Given the description of an element on the screen output the (x, y) to click on. 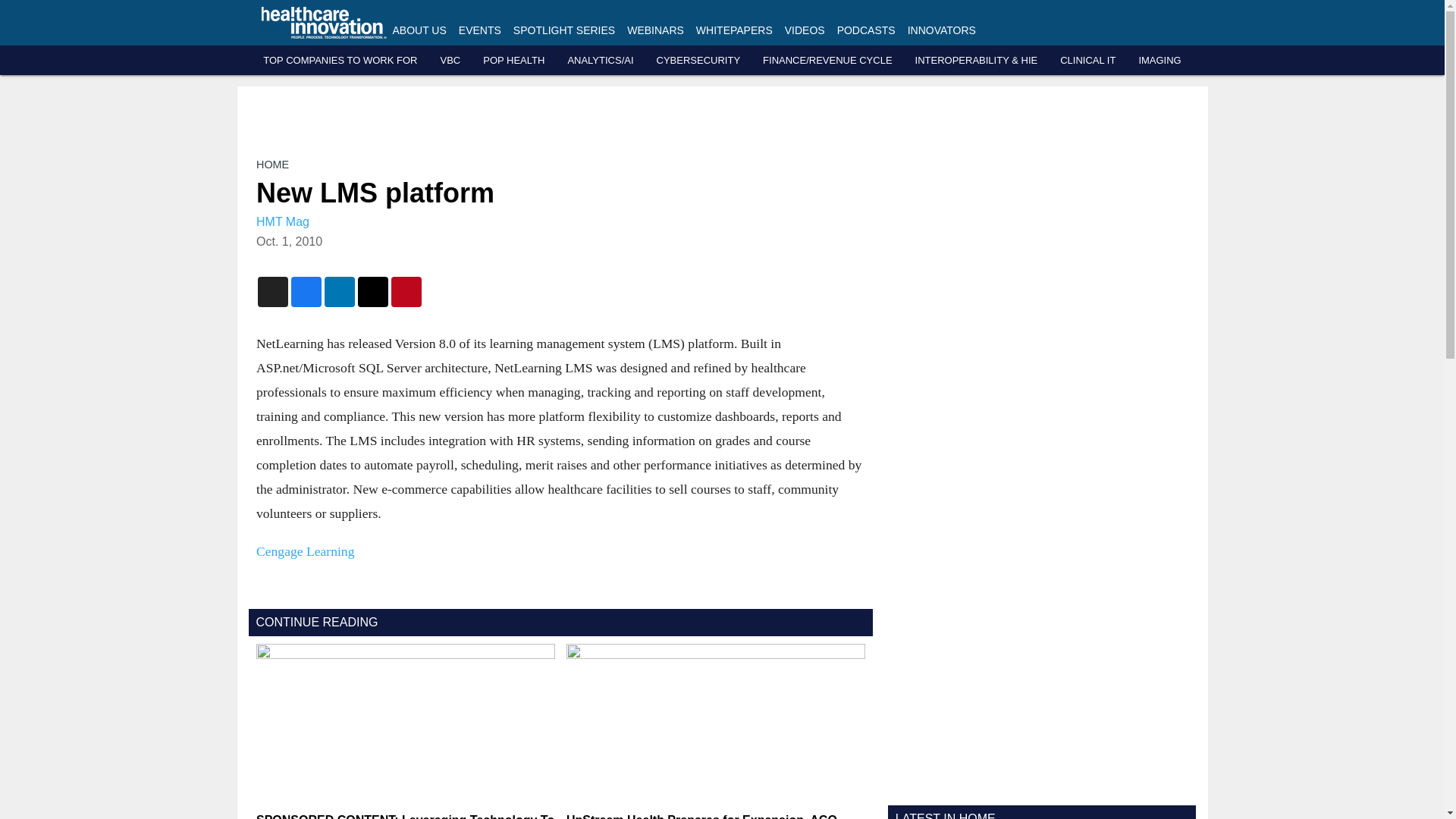
POP HEALTH (513, 60)
PODCASTS (866, 30)
WHITEPAPERS (734, 30)
EVENTS (479, 30)
INNOVATORS (941, 30)
HOME (272, 164)
TOP COMPANIES TO WORK FOR (339, 60)
WEBINARS (655, 30)
VIDEOS (804, 30)
UpStream Health Prepares for Expansion, ACO Reach (715, 816)
